Given the description of an element on the screen output the (x, y) to click on. 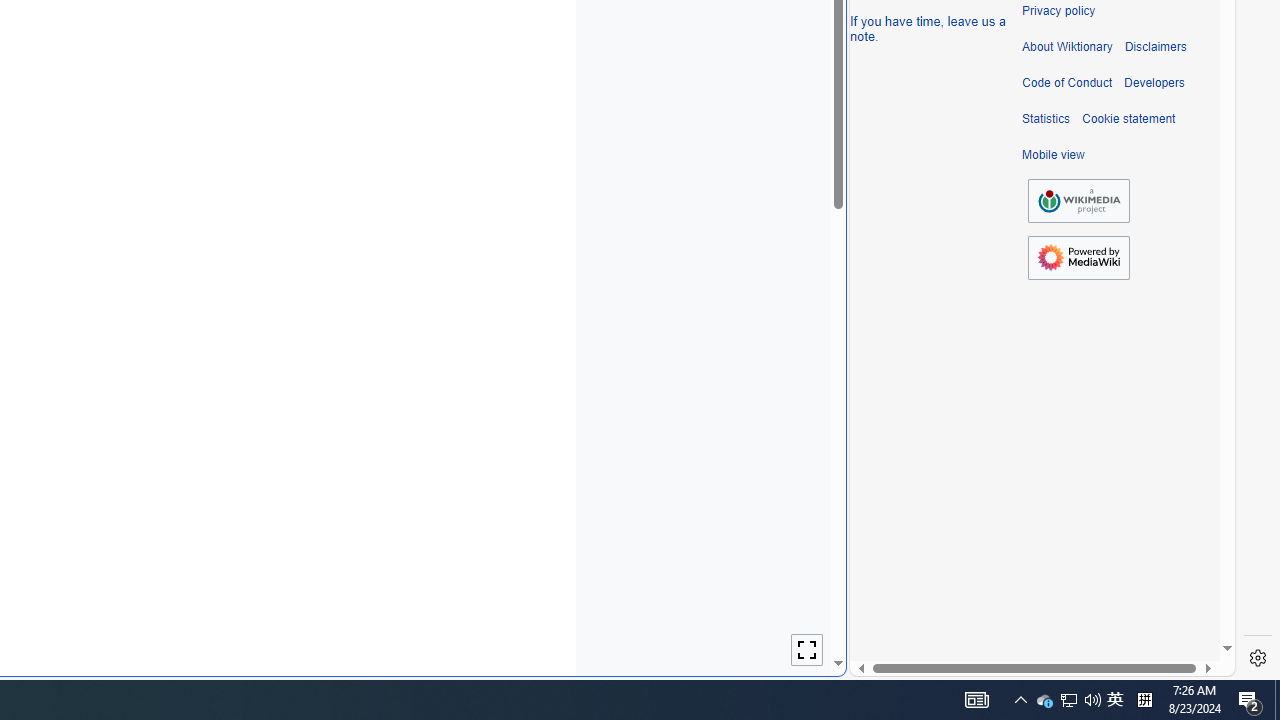
AutomationID: footer-poweredbyico (1078, 257)
Toggle limited content width (807, 650)
Powered by MediaWiki (1078, 257)
Toggle limited content width (807, 650)
Powered by MediaWiki (1078, 257)
Privacy policy (1058, 11)
AutomationID: footer-copyrightico (1078, 200)
Wikimedia Foundation (1078, 201)
Cookie statement (1128, 119)
